Given the description of an element on the screen output the (x, y) to click on. 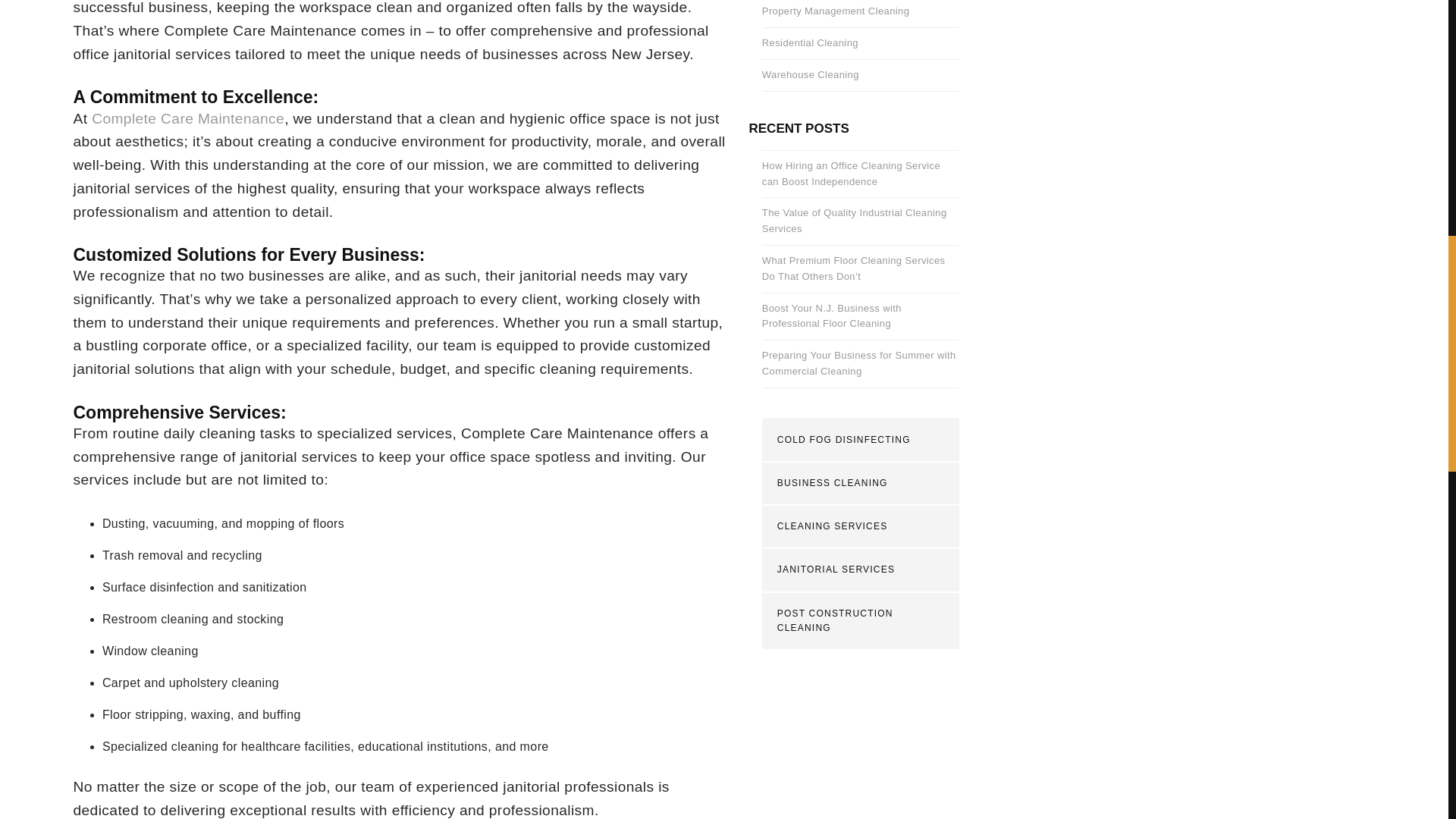
Go to top (1428, 22)
